Given the description of an element on the screen output the (x, y) to click on. 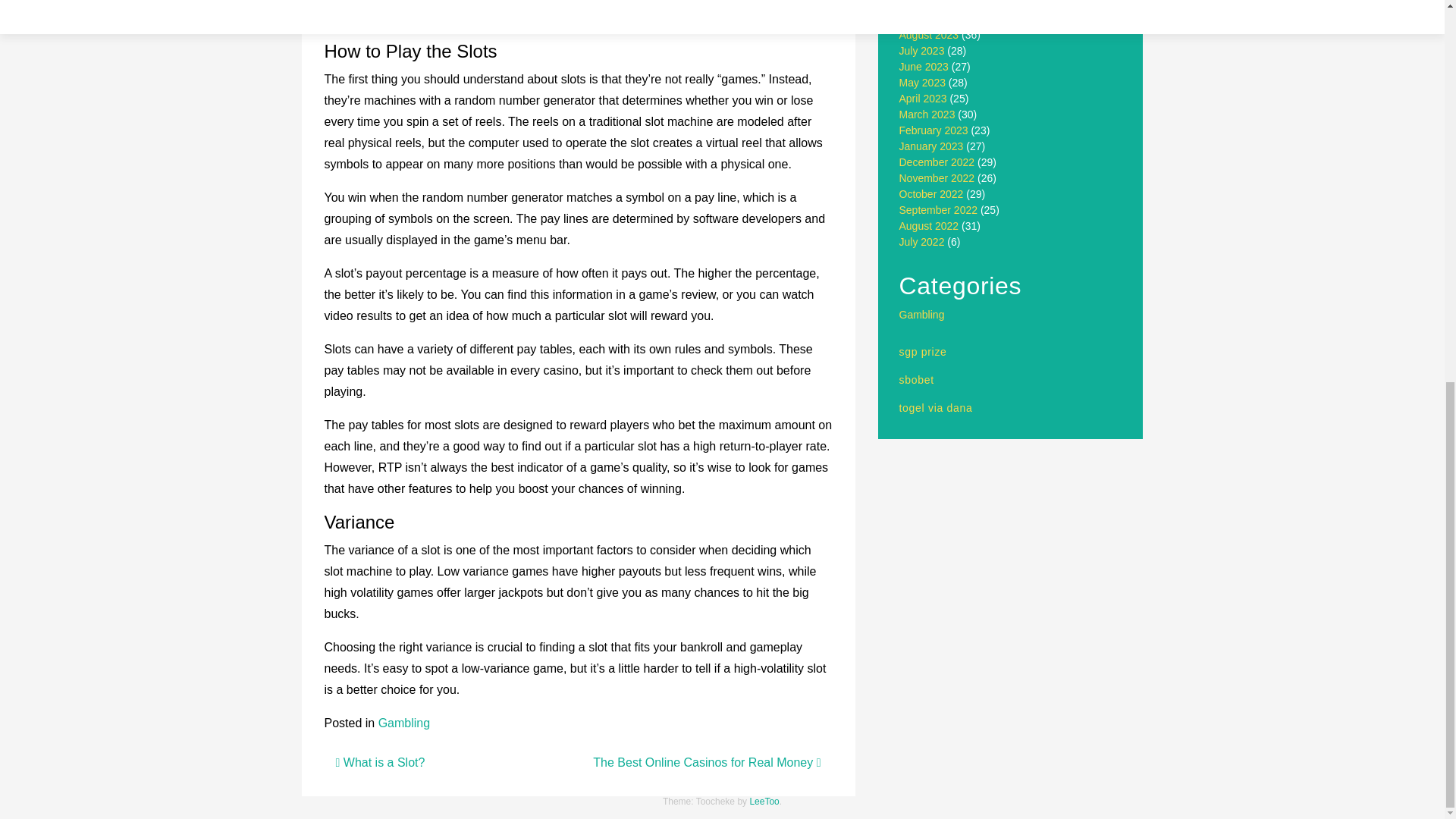
January 2023 (931, 146)
Gambling (921, 314)
sgp prize (923, 351)
October 2023 (931, 4)
The Best Online Casinos for Real Money  (706, 762)
November 2022 (937, 177)
June 2023 (924, 66)
December 2022 (937, 162)
April 2023 (923, 98)
August 2023 (929, 34)
September 2022 (938, 209)
February 2023 (933, 130)
October 2022 (931, 193)
March 2023 (927, 114)
July 2023 (921, 50)
